Given the description of an element on the screen output the (x, y) to click on. 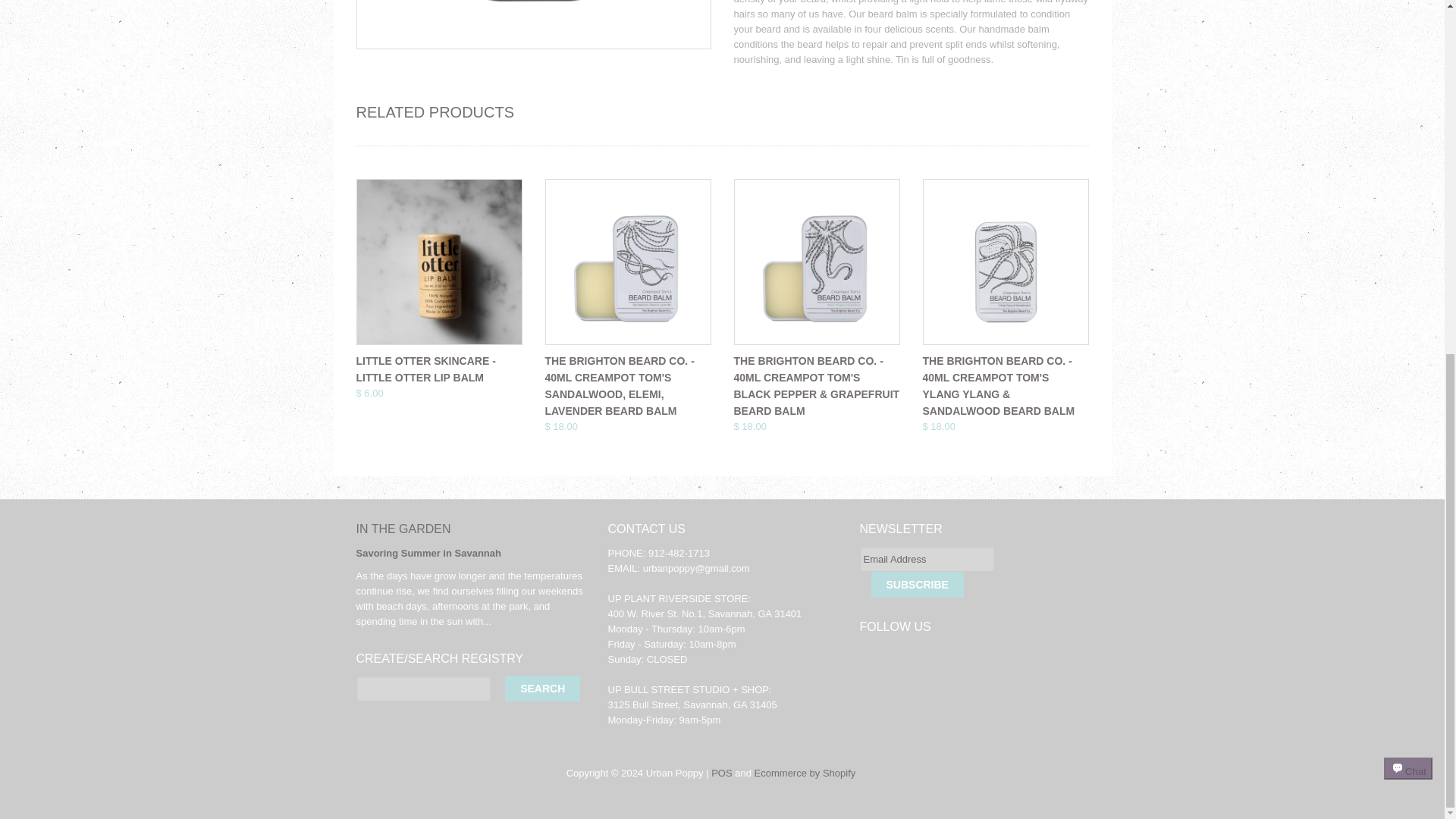
Search (542, 688)
Search (542, 688)
Urban Poppy on Instagram (935, 655)
Twitter (871, 655)
Savoring Summer in Savannah (428, 552)
Facebook (903, 655)
Urban Poppy on Facebook (903, 655)
Shopify online store chat (1408, 162)
Subscribe (916, 584)
Pinterest (967, 655)
POS (721, 772)
IN THE GARDEN (403, 528)
Urban Poppy on Twitter (871, 655)
Subscribe (916, 584)
Ecommerce by Shopify (805, 772)
